Given the description of an element on the screen output the (x, y) to click on. 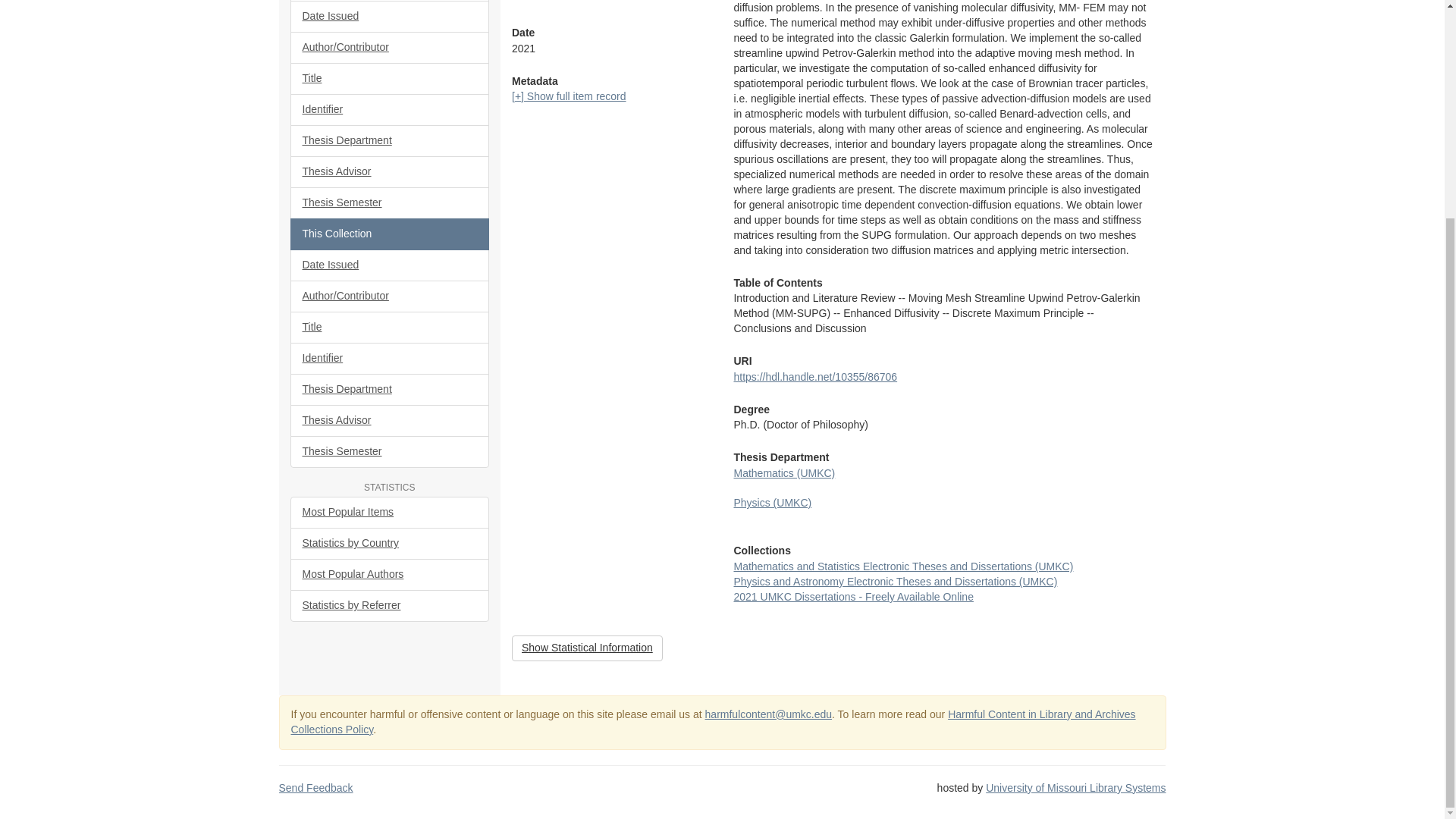
Title (389, 79)
Date Issued (389, 16)
Identifier (389, 110)
Thesis Advisor (389, 172)
Thesis Department (389, 141)
